Given the description of an element on the screen output the (x, y) to click on. 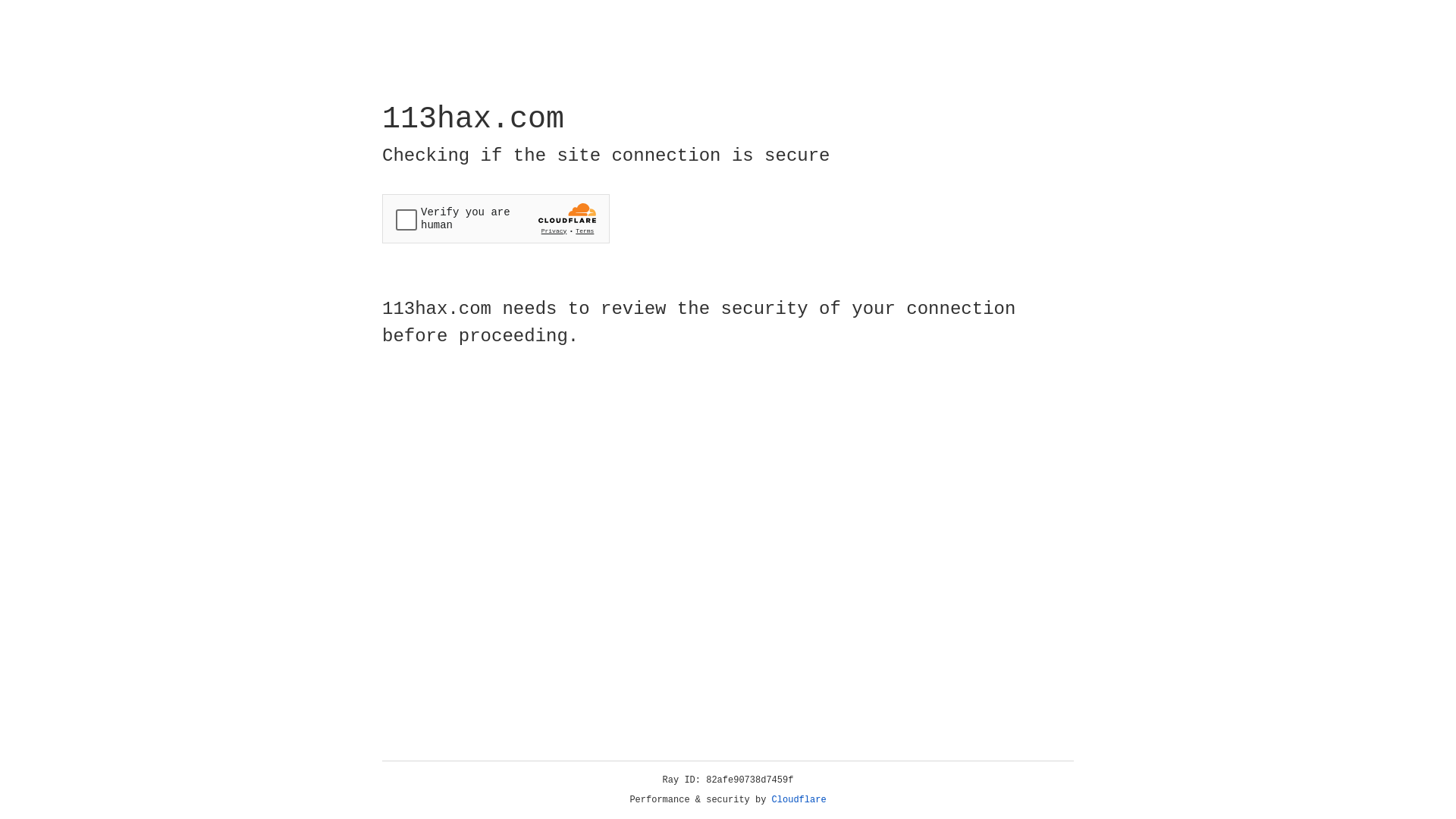
Widget containing a Cloudflare security challenge Element type: hover (495, 218)
Cloudflare Element type: text (798, 799)
